Given the description of an element on the screen output the (x, y) to click on. 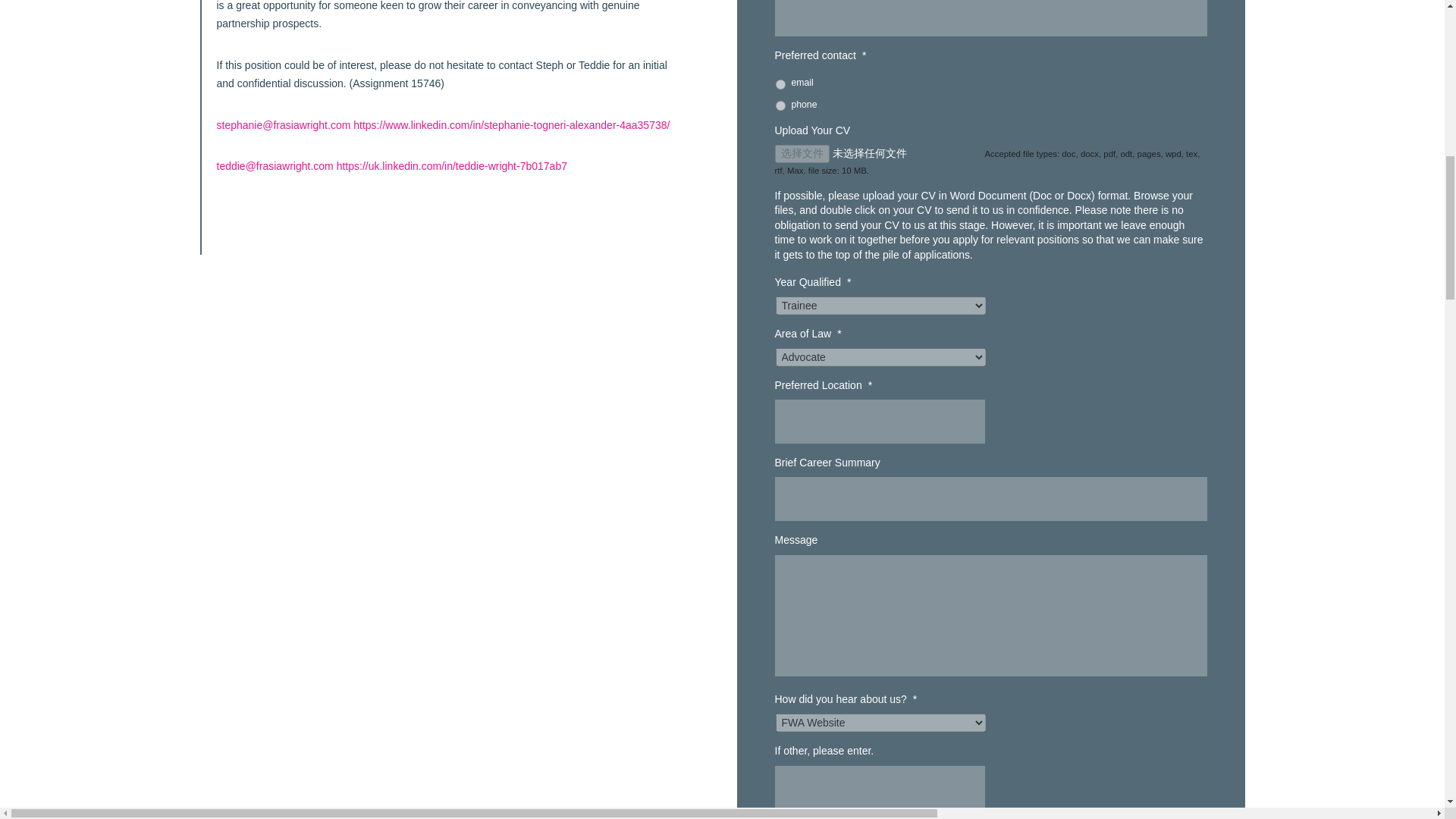
phone (779, 105)
email (779, 84)
